Given the description of an element on the screen output the (x, y) to click on. 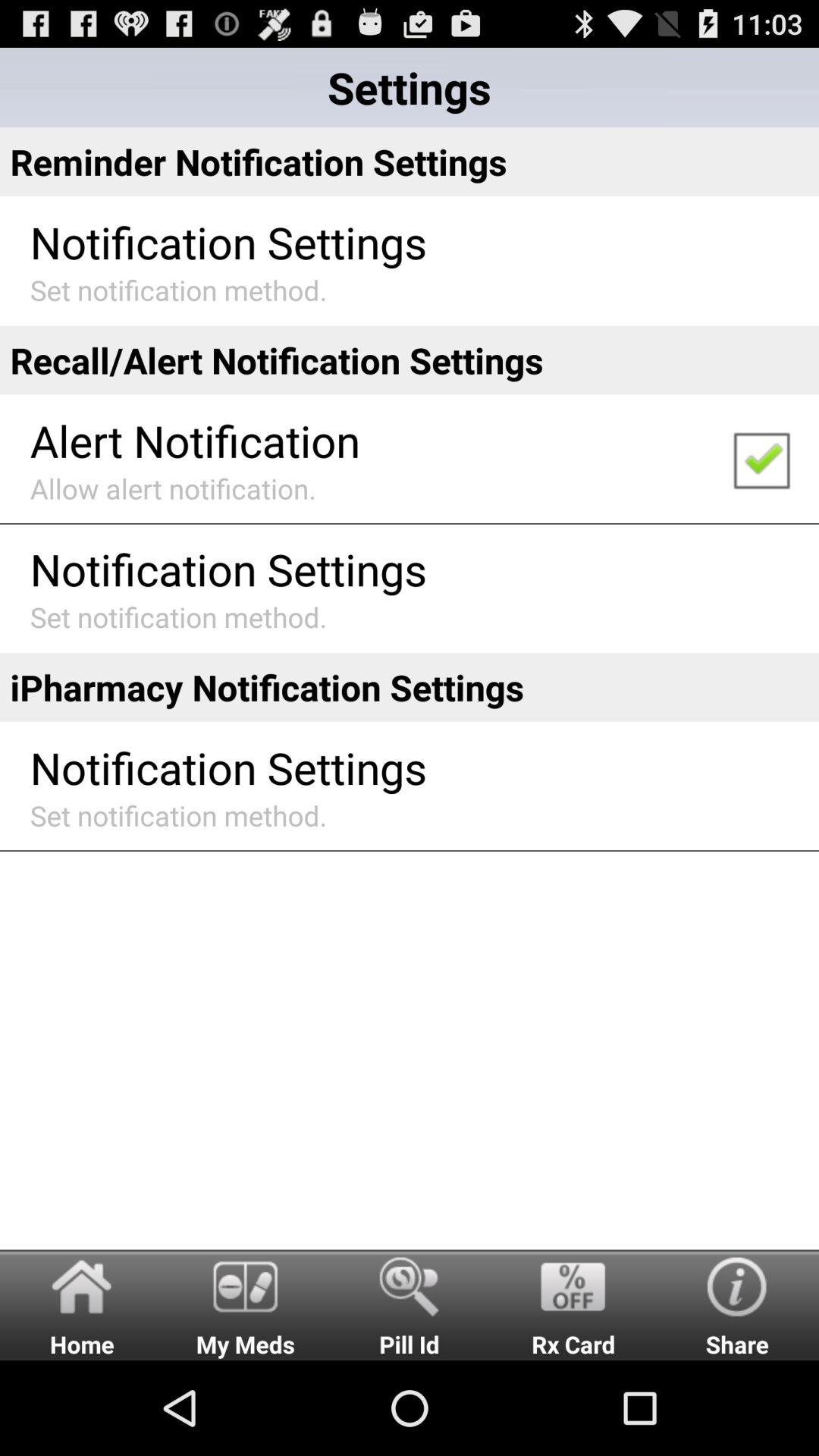
open the app to the right of the alert notification icon (761, 459)
